Given the description of an element on the screen output the (x, y) to click on. 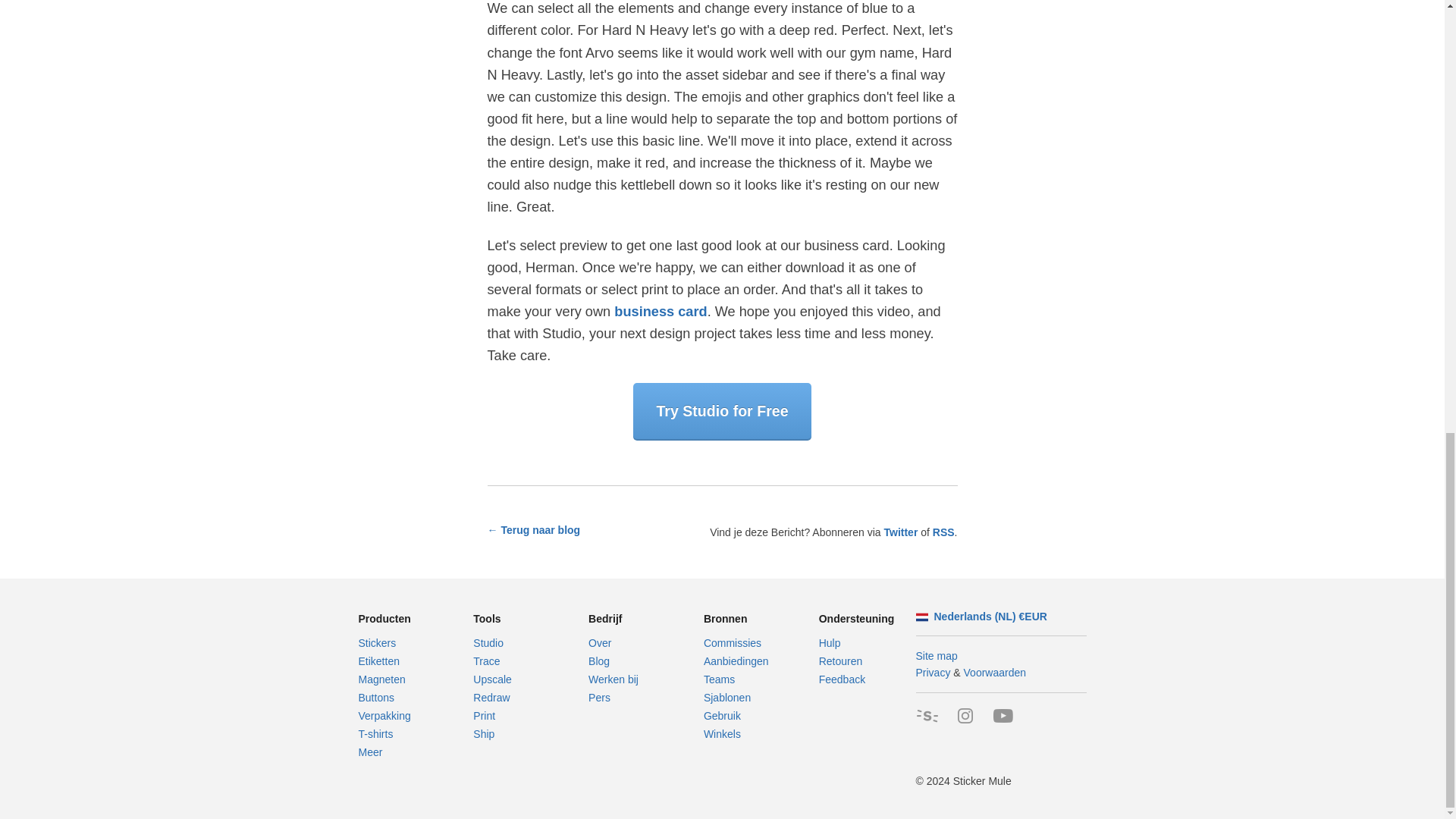
Abonneren via RSS (944, 532)
Volg ons op twitter (900, 532)
